Given the description of an element on the screen output the (x, y) to click on. 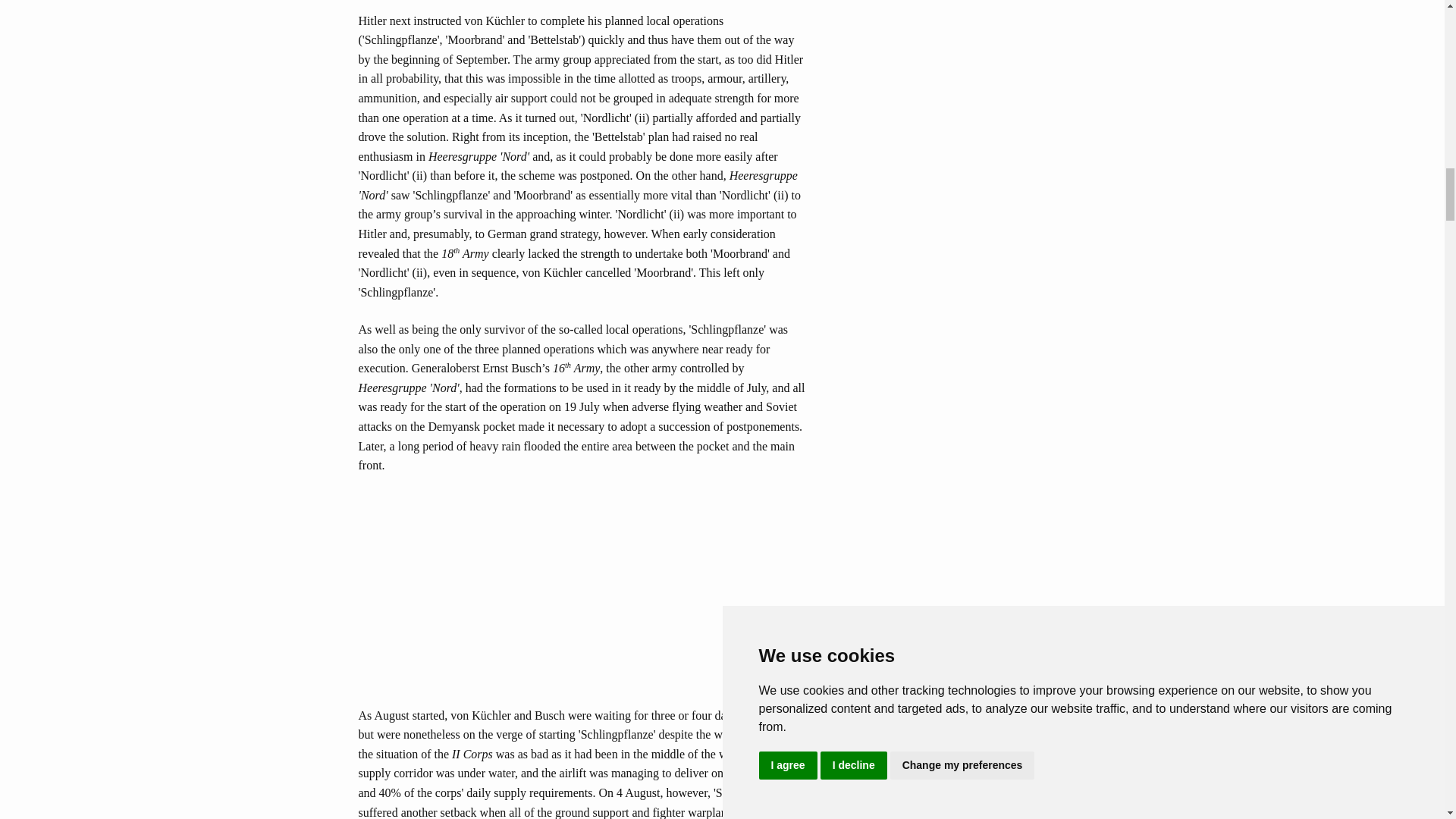
Advertisement (583, 599)
